Given the description of an element on the screen output the (x, y) to click on. 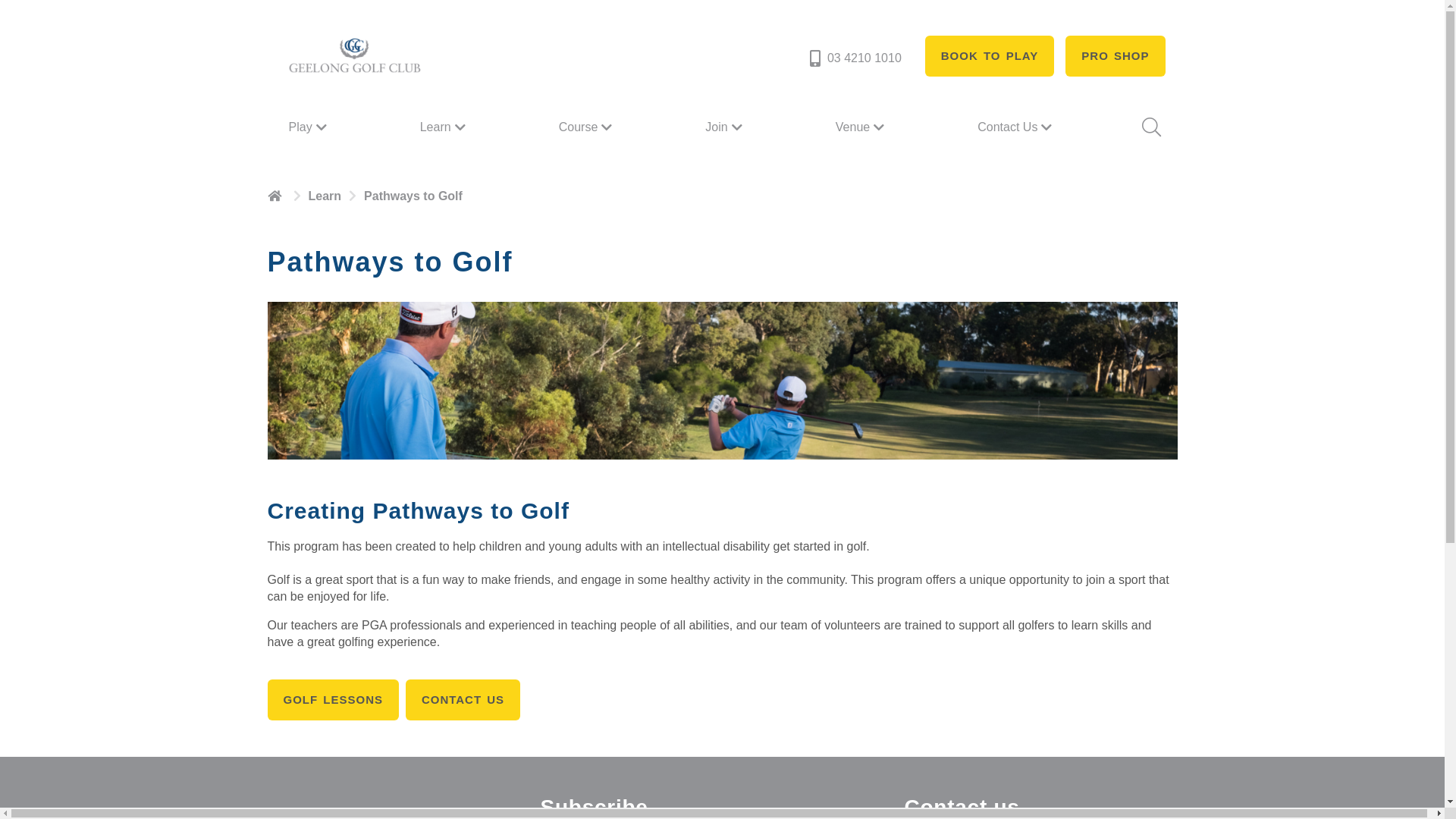
  Element type: text (275, 195)
03 4210 1010 Element type: text (853, 58)
Venue Element type: text (861, 127)
Search Element type: text (1150, 127)
BOOK TO PLAY Element type: text (989, 55)
Course Element type: text (587, 127)
GOLF LESSONS Element type: text (332, 699)
Join Element type: text (725, 127)
Learn Element type: text (444, 127)
PRO SHOP Element type: text (1114, 55)
CONTACT US Element type: text (462, 699)
Play Element type: text (308, 127)
Contact Us Element type: text (1016, 127)
